Given the description of an element on the screen output the (x, y) to click on. 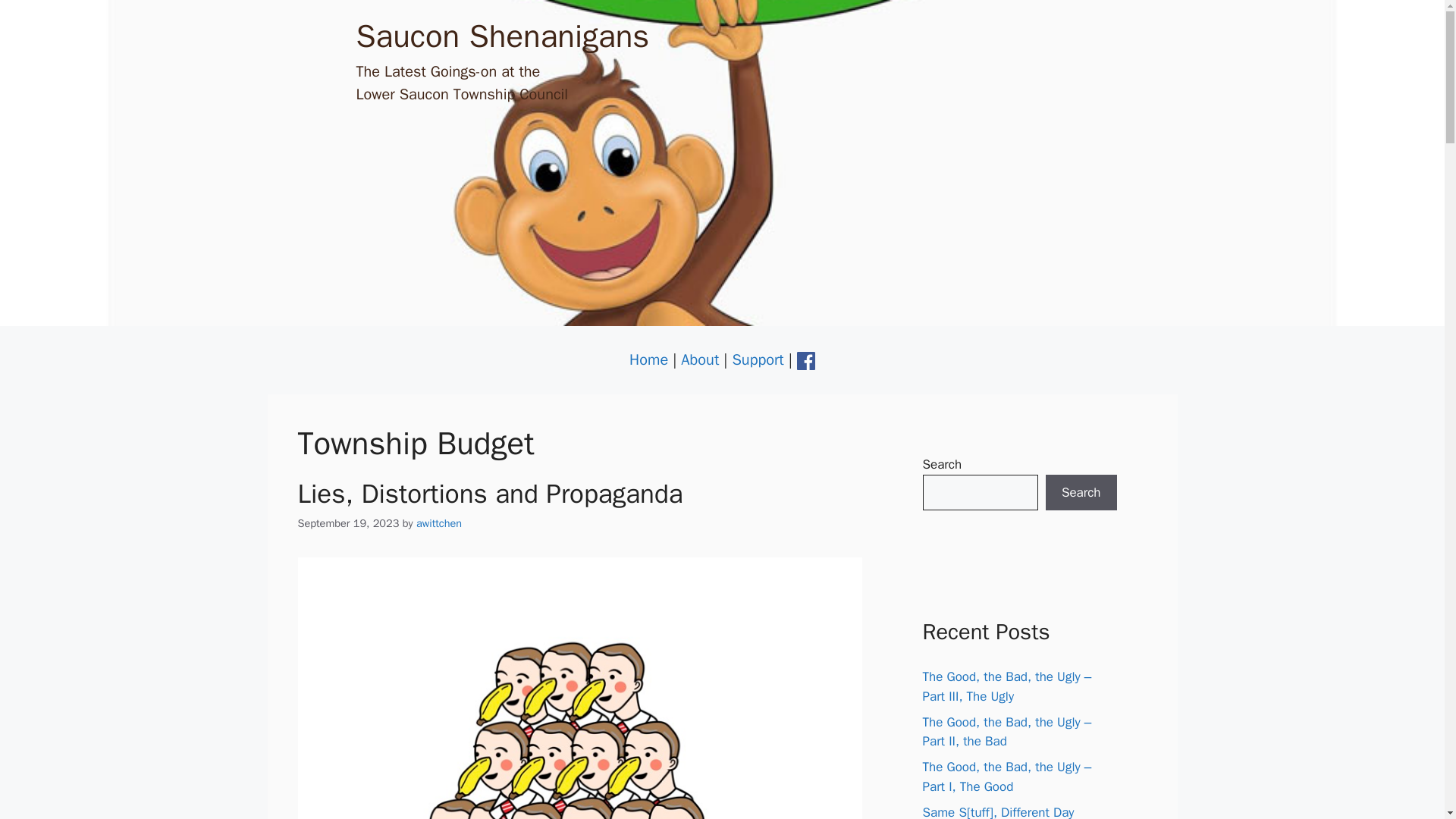
awittchen (438, 522)
Search (1080, 493)
Saucon Shenanigans (502, 36)
Lies, Distortions and Propaganda (489, 493)
View all posts by awittchen (438, 522)
About (700, 359)
Support (757, 359)
Home (648, 359)
